Given the description of an element on the screen output the (x, y) to click on. 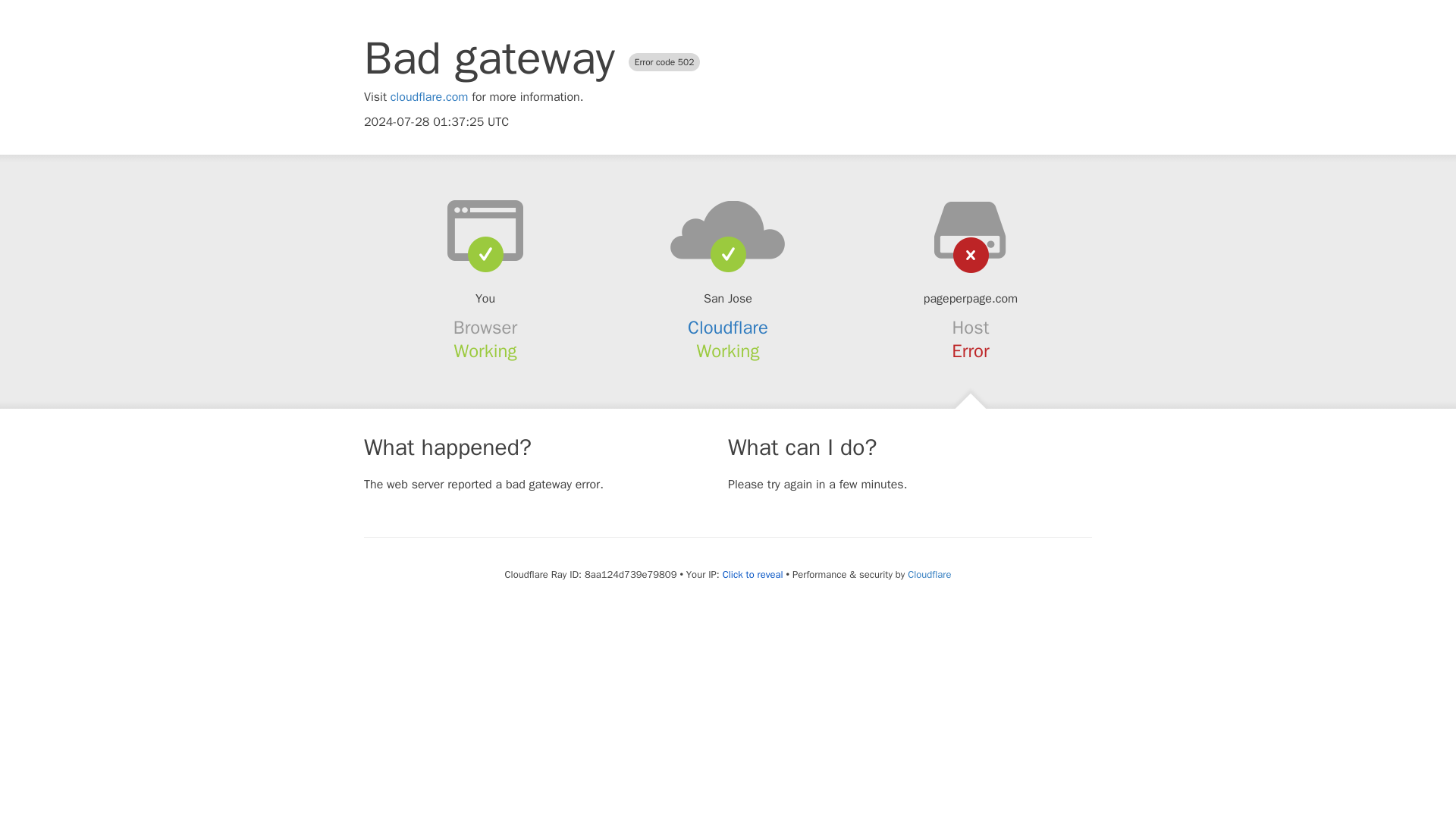
Cloudflare (727, 327)
Cloudflare (928, 574)
cloudflare.com (429, 96)
Click to reveal (752, 574)
